Given the description of an element on the screen output the (x, y) to click on. 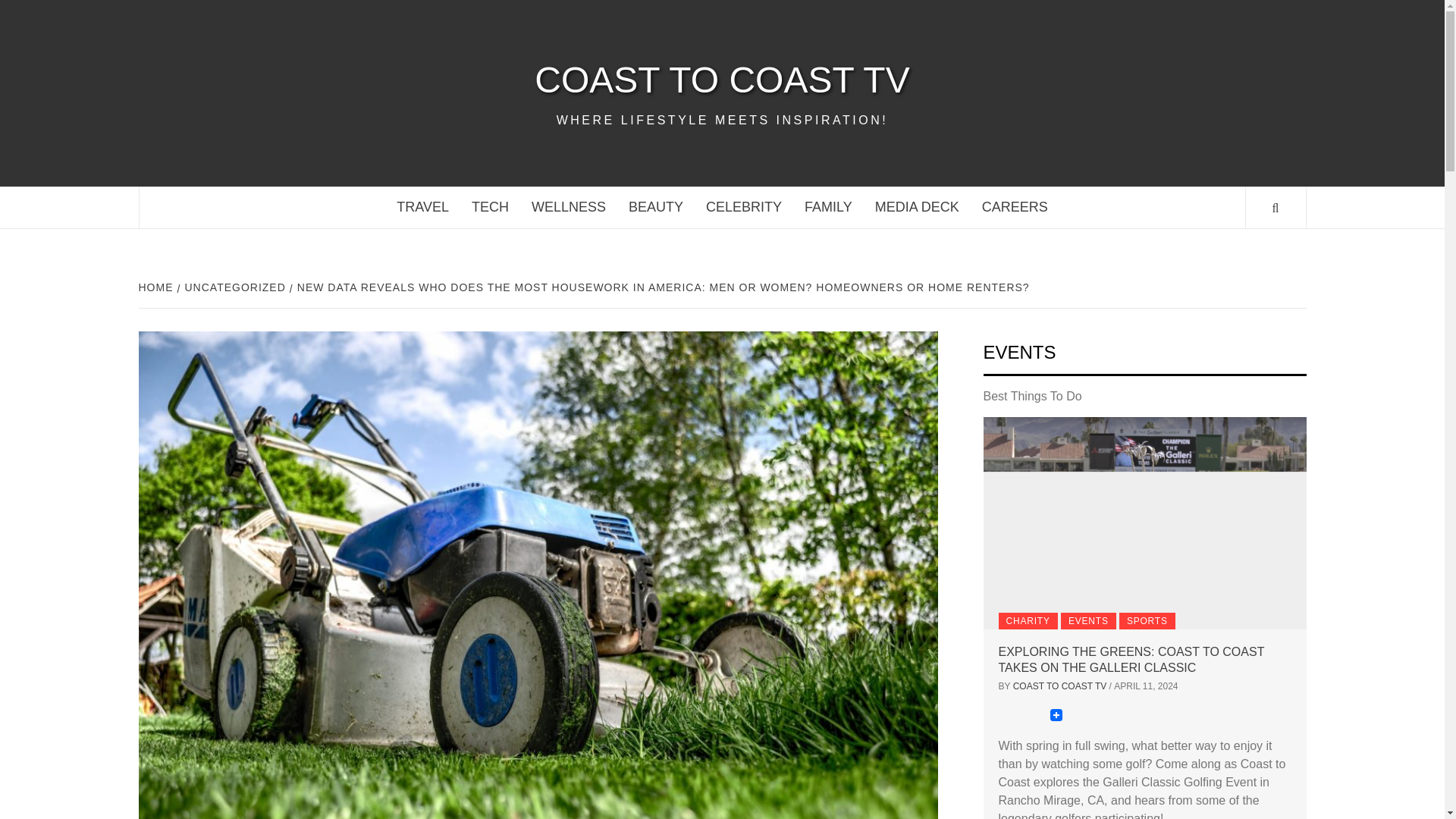
WELLNESS (568, 207)
TRAVEL (422, 207)
CAREERS (1015, 207)
MEDIA DECK (917, 207)
UNCATEGORIZED (233, 287)
HOME (157, 287)
CELEBRITY (743, 207)
TECH (489, 207)
COAST TO COAST TV (721, 80)
